Given the description of an element on the screen output the (x, y) to click on. 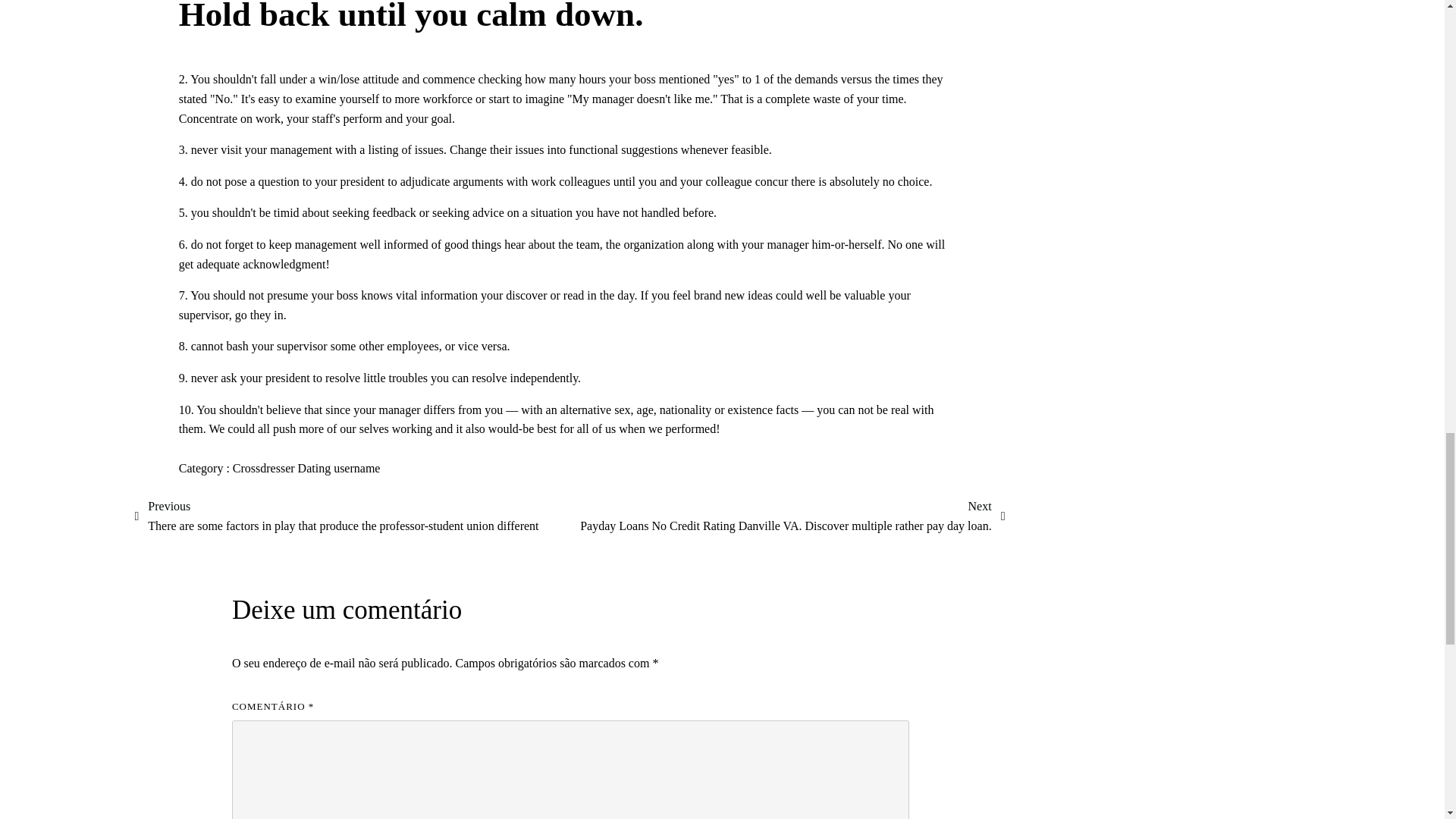
Crossdresser Dating username (306, 468)
